Given the description of an element on the screen output the (x, y) to click on. 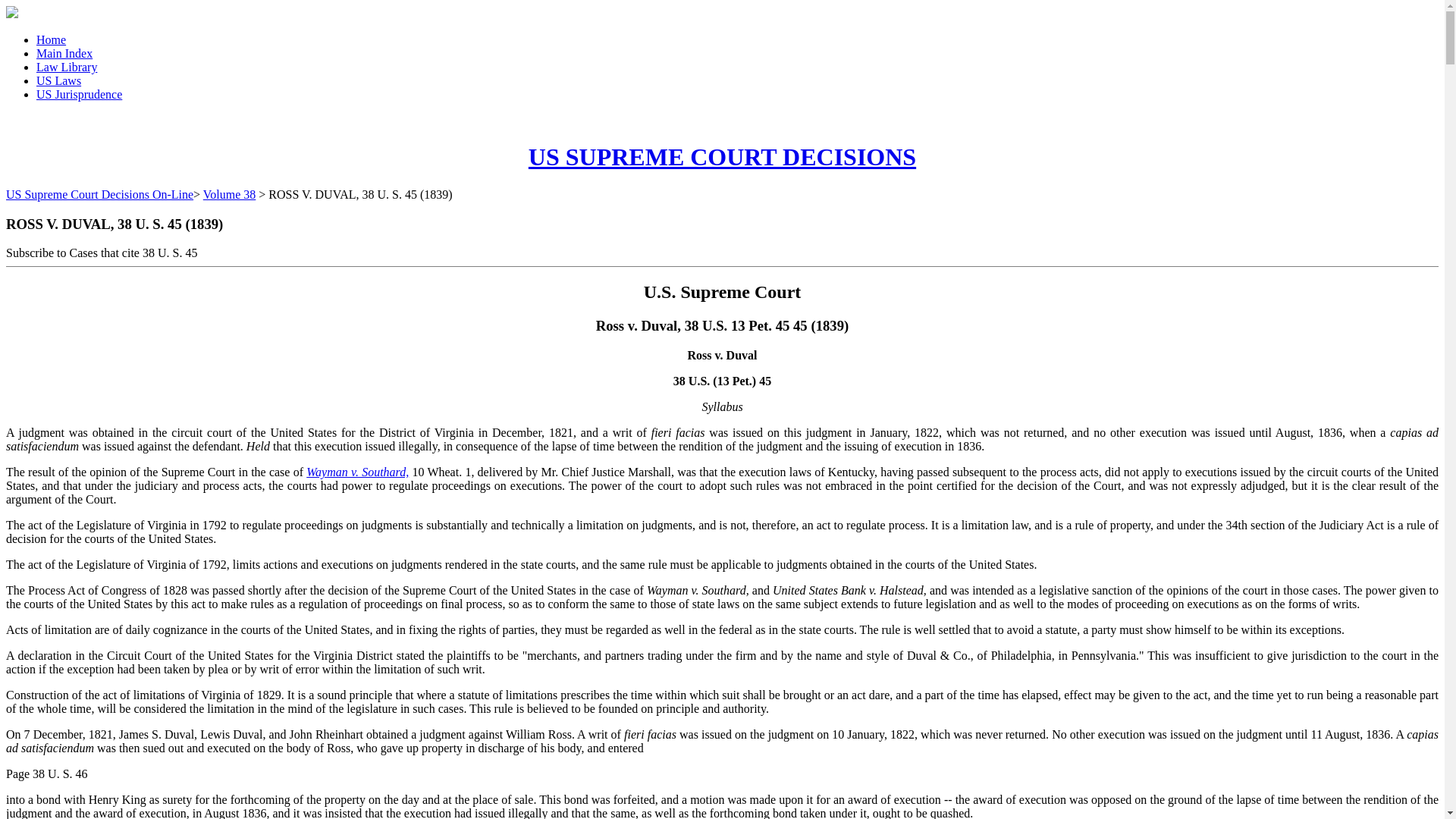
US Jurisprudence (79, 93)
US Laws (58, 80)
Wayman v. Southard, (357, 472)
US SUPREME COURT DECISIONS (721, 156)
Home (50, 39)
Volume 38 (229, 194)
United States Supreme Court Decisions - On-Line (721, 156)
US Supreme Court Decisions On-Line (99, 194)
Law Library (66, 66)
Page 38 U. S. 46 (46, 773)
Main Index (64, 52)
